Given the description of an element on the screen output the (x, y) to click on. 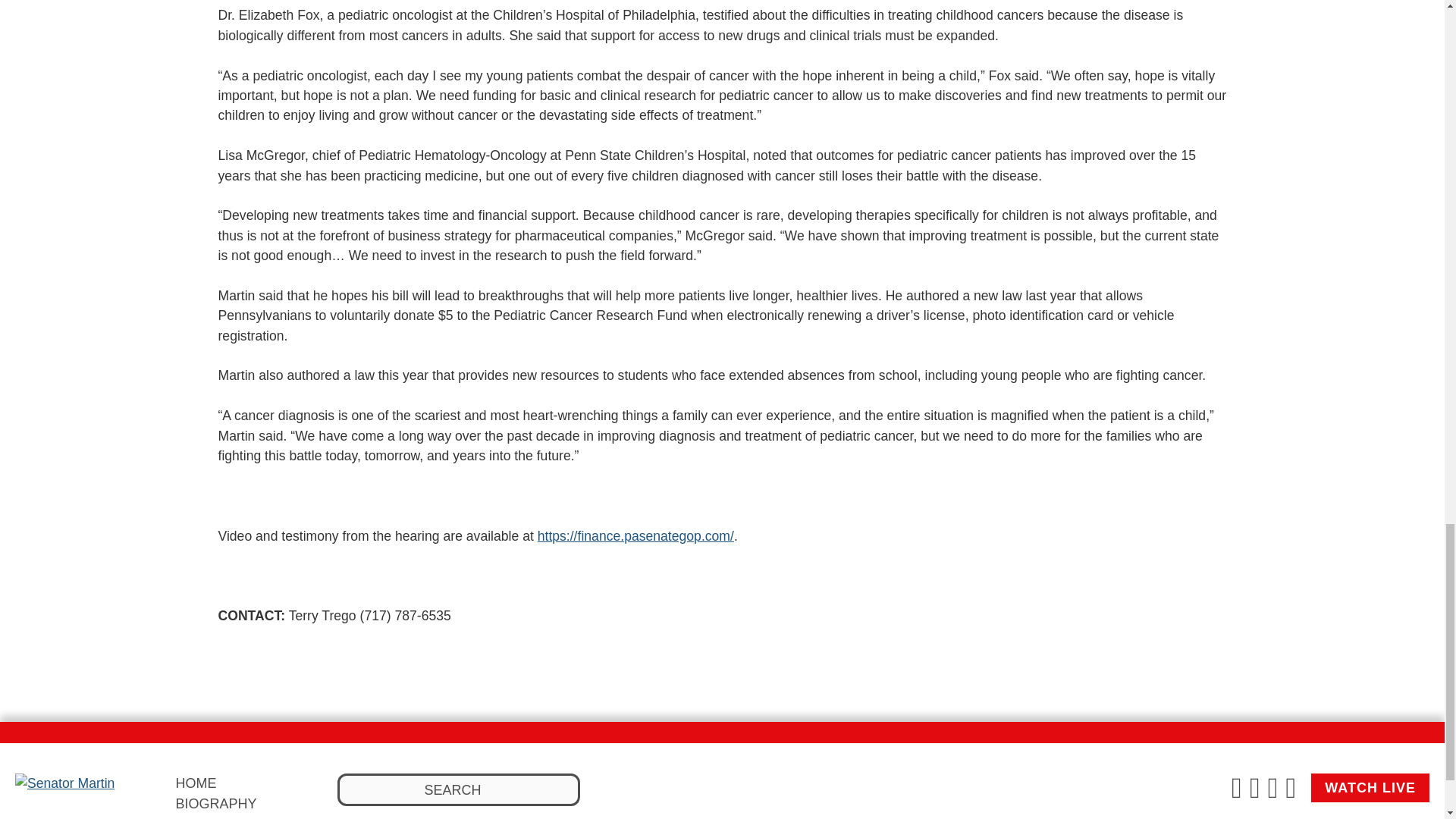
BIOGRAPHY (215, 803)
HOME (194, 783)
CONTACT ME (218, 817)
